Given the description of an element on the screen output the (x, y) to click on. 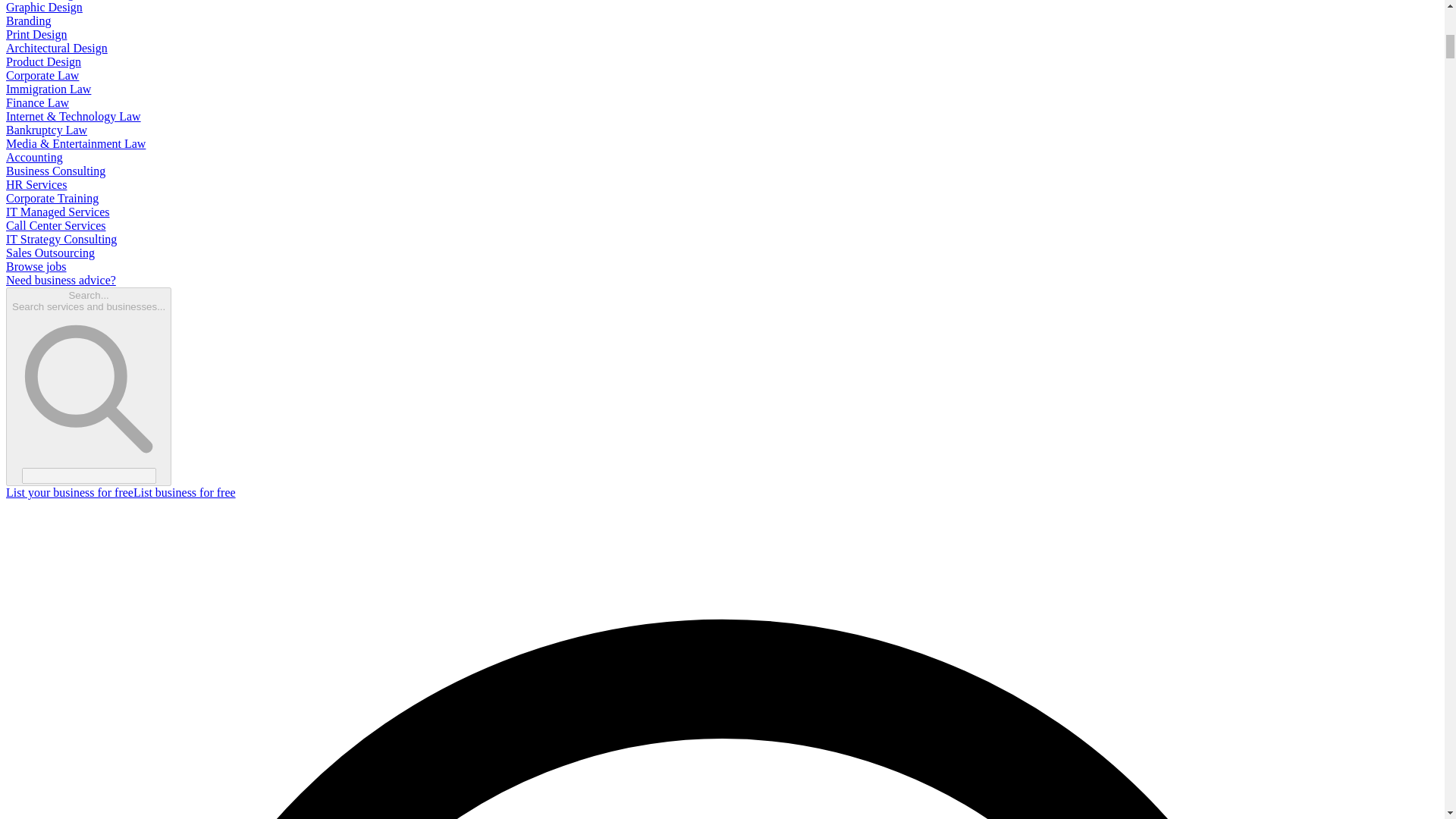
Print Design (35, 33)
Product Design (43, 61)
Architectural Design (56, 47)
Branding (27, 20)
Graphic Design (43, 6)
Finance Law (36, 102)
Corporate Law (41, 74)
Immigration Law (47, 88)
